Given the description of an element on the screen output the (x, y) to click on. 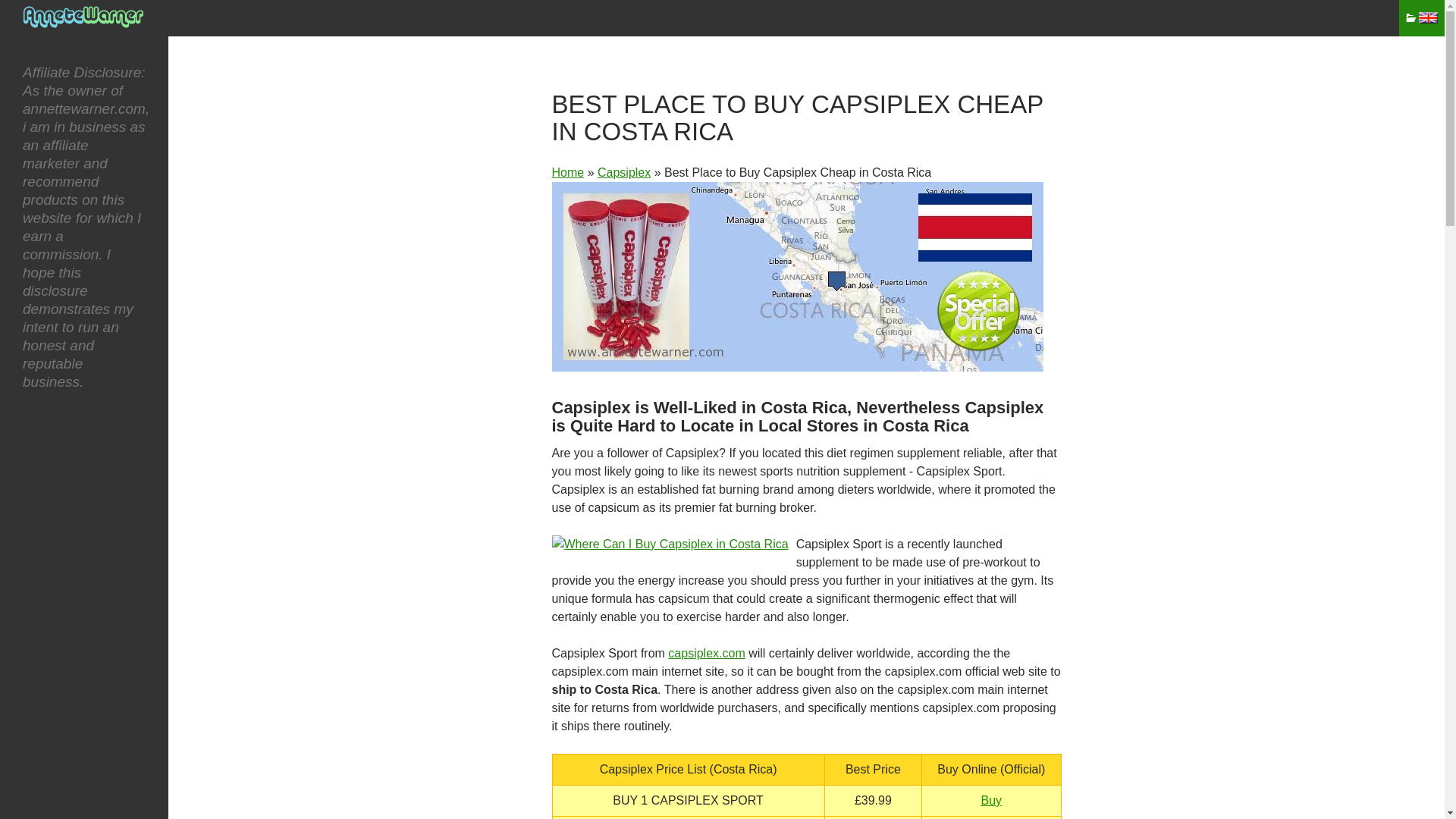
Where Can I Buy Capsiplex in Costa Rica (670, 544)
Buy Capsiplex Online  (623, 172)
Capsiplex (623, 172)
Purchase Capsiplex online Costa Rica (797, 276)
Home (568, 172)
